Given the description of an element on the screen output the (x, y) to click on. 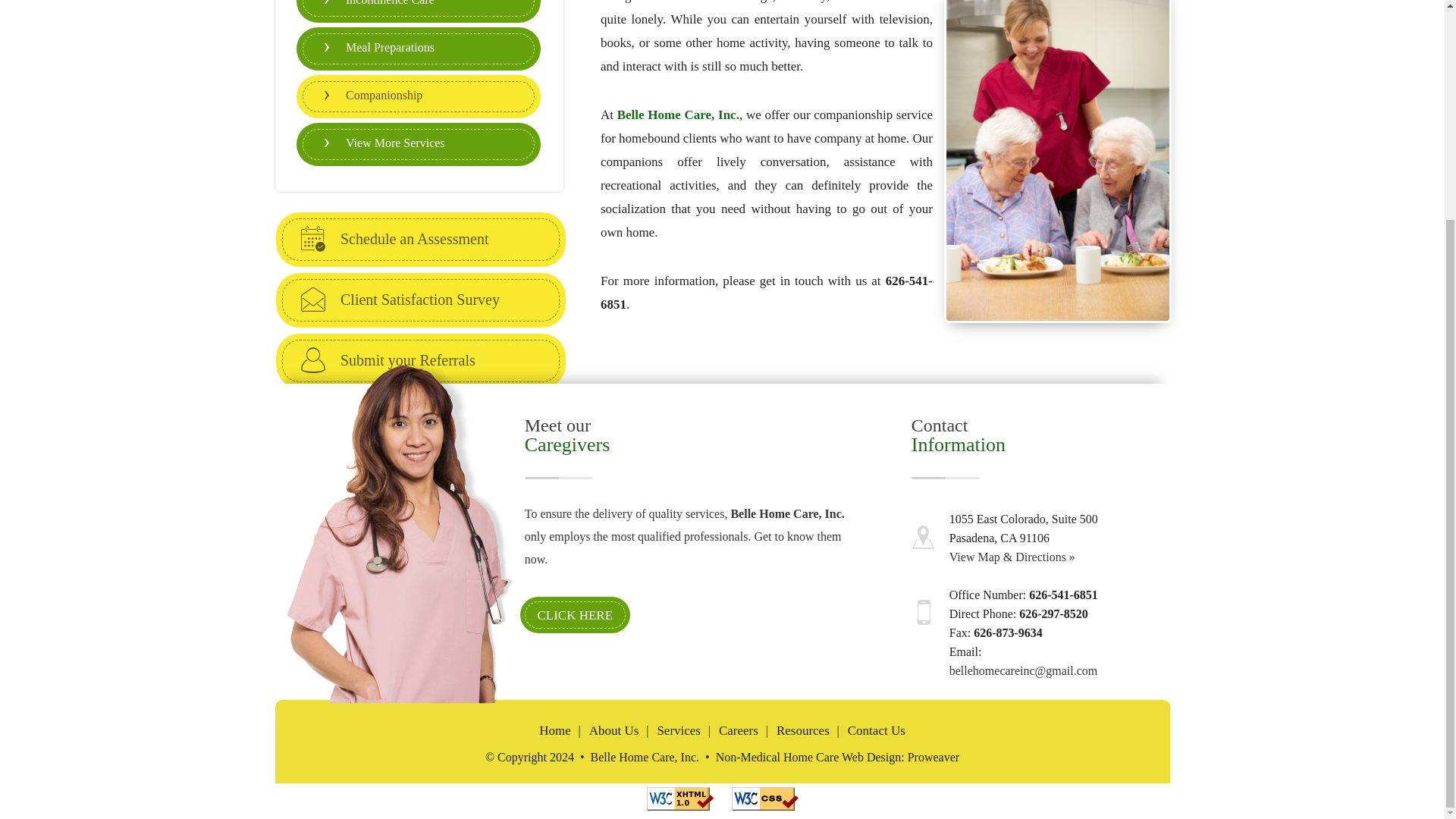
Schedule an Assessment (420, 239)
View More Services (418, 143)
About Us (614, 730)
Contact Us (876, 730)
CLICK HERE (575, 614)
Home (554, 730)
Companionship (418, 96)
Careers (738, 730)
Client Satisfaction Survey (420, 300)
Meal Preparations (418, 48)
Resources (802, 730)
Proweaver (933, 757)
Incontinence Care (418, 8)
Submit your Referrals (420, 360)
Non-Medical Home Care Web Design (808, 757)
